Given the description of an element on the screen output the (x, y) to click on. 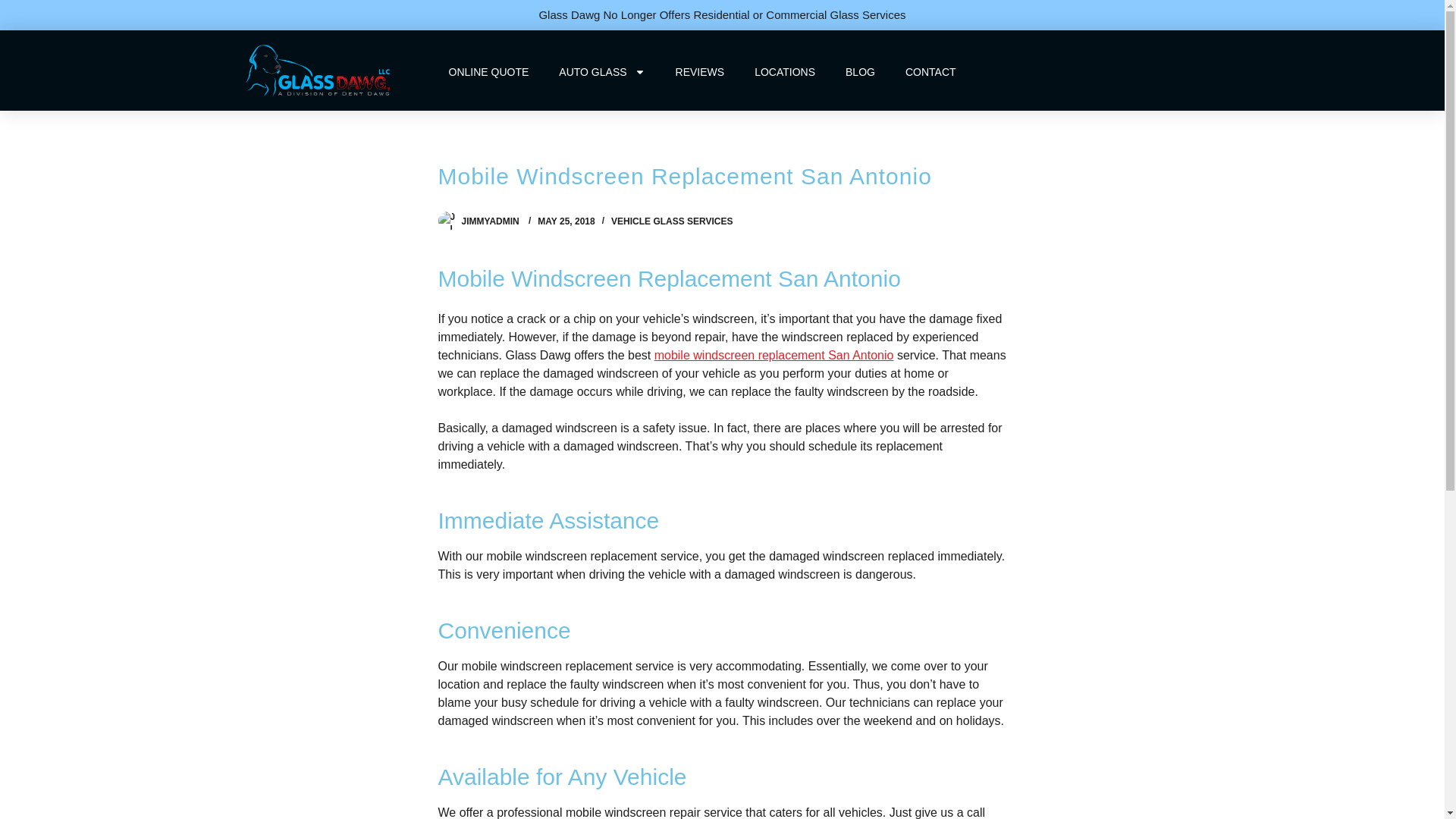
ONLINE QUOTE (488, 71)
LOCATIONS (784, 71)
Skip to content (15, 7)
AUTO GLASS (601, 71)
BLOG (859, 71)
REVIEWS (700, 71)
CONTACT (930, 71)
mobile windscreen replacement San Antonio (773, 354)
VEHICLE GLASS SERVICES (671, 221)
Mobile Windscreen Replacement San Antonio (722, 176)
